Given the description of an element on the screen output the (x, y) to click on. 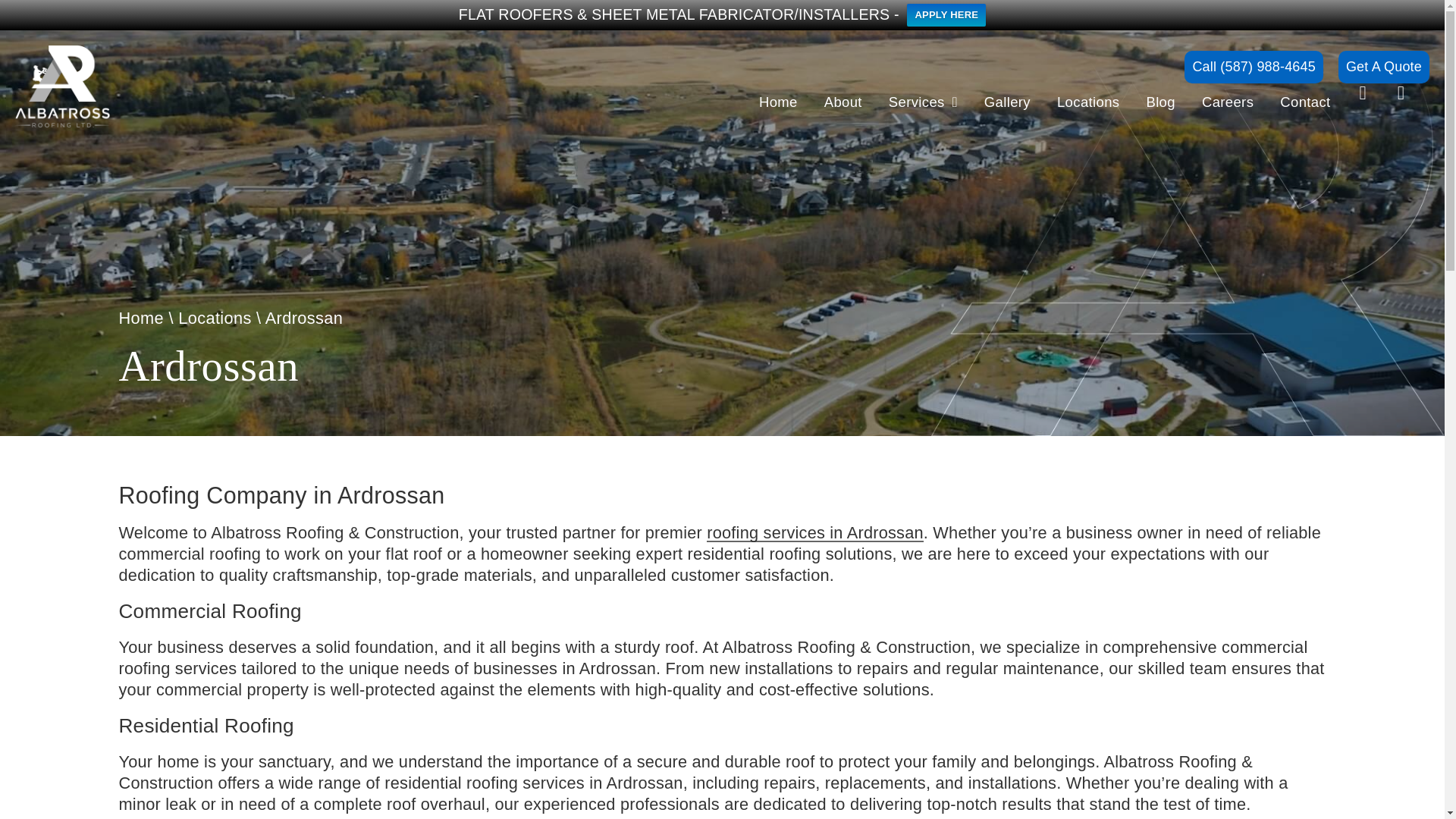
Services (923, 102)
About (842, 102)
Contact (1304, 102)
APPLY HERE (946, 15)
Home (778, 102)
Gallery (1007, 102)
Home (140, 317)
Locations (1088, 102)
Locations (213, 317)
roofing services in Ardrossan (814, 532)
Careers (1228, 102)
Get A Quote (1383, 66)
Blog (1160, 102)
